Given the description of an element on the screen output the (x, y) to click on. 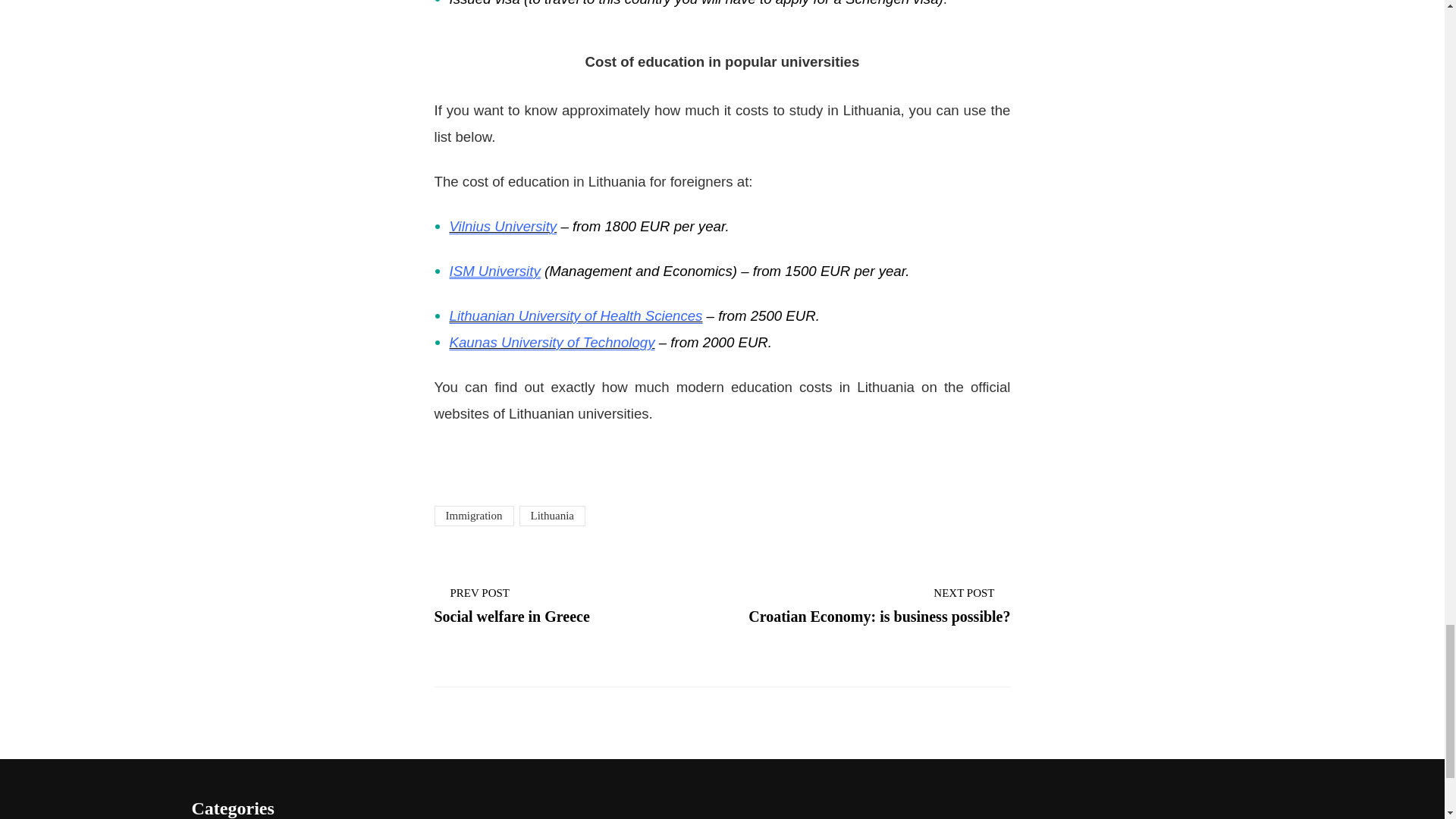
Immigration (473, 516)
Kaunas University of Technology (550, 342)
Vilnius University (502, 226)
Lithuanian University of Health Sciences (574, 315)
ISM University (877, 604)
Lithuania (494, 270)
